Given the description of an element on the screen output the (x, y) to click on. 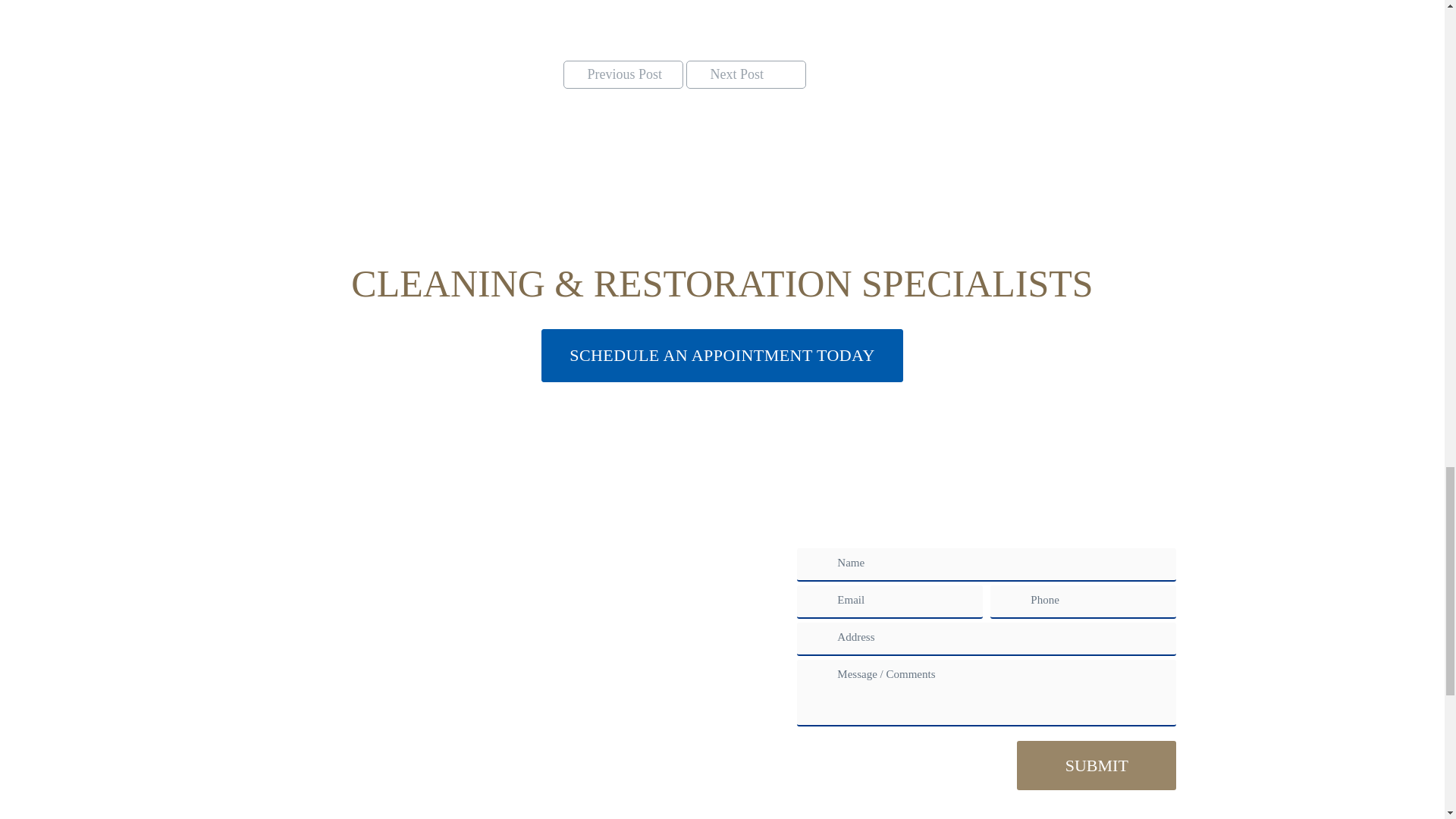
Submit (1096, 765)
